Given the description of an element on the screen output the (x, y) to click on. 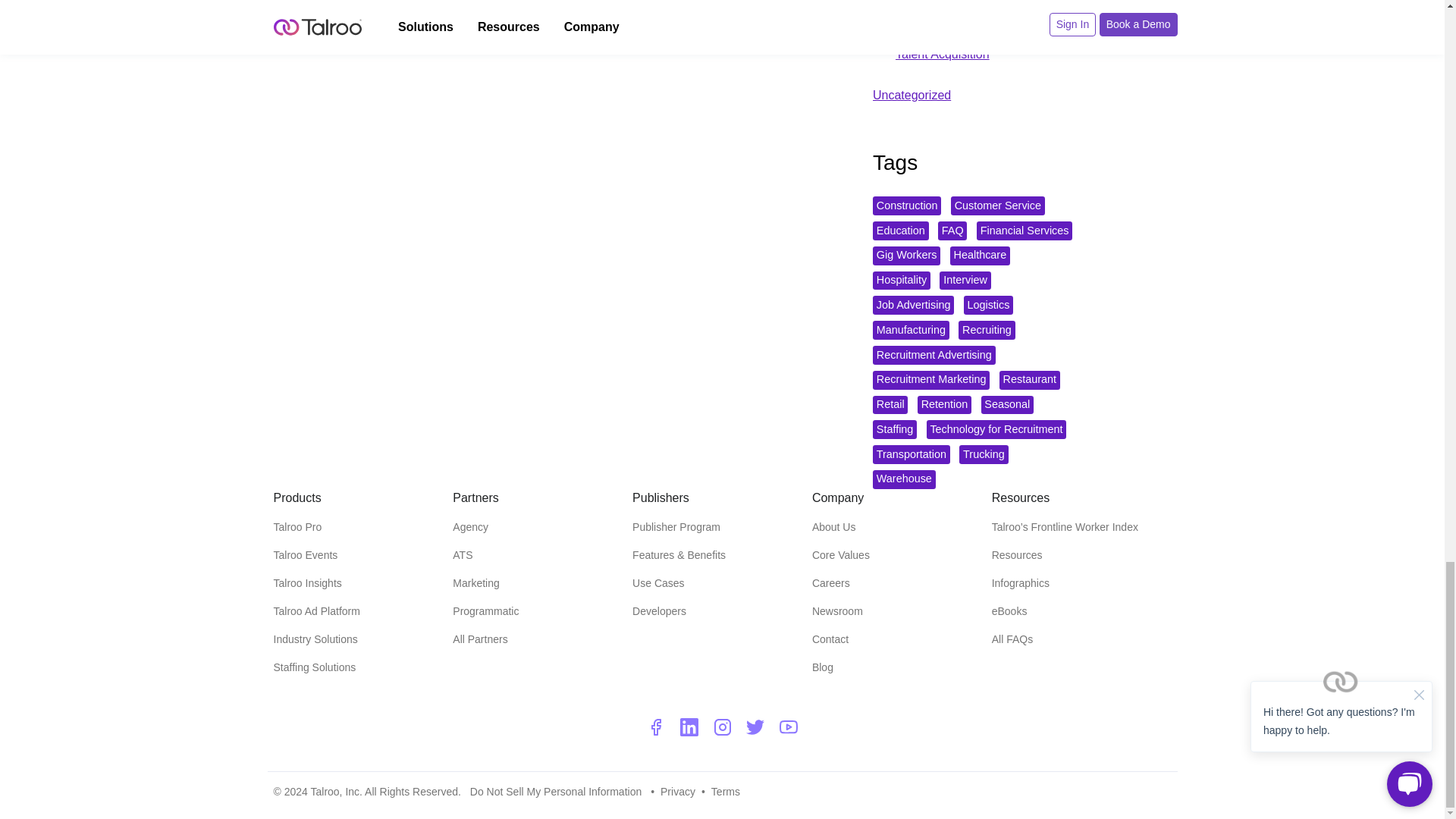
Construction Tag (906, 205)
Restaurant Tag (1028, 380)
Hospitality Tag (901, 280)
Logistics Tag (988, 304)
Financial Services Tag (1023, 230)
Customer Service Tag (997, 205)
Interview Tag (964, 280)
Education Tag (900, 230)
Recruitment Marketing Tag (931, 380)
Recruiting Tag (986, 330)
Recruitment Advertising Tag (933, 354)
Gig Workers Tag (906, 255)
Manufacturing Tag (910, 330)
Job Advertising Tag (912, 304)
Healthcare Tag (980, 255)
